Given the description of an element on the screen output the (x, y) to click on. 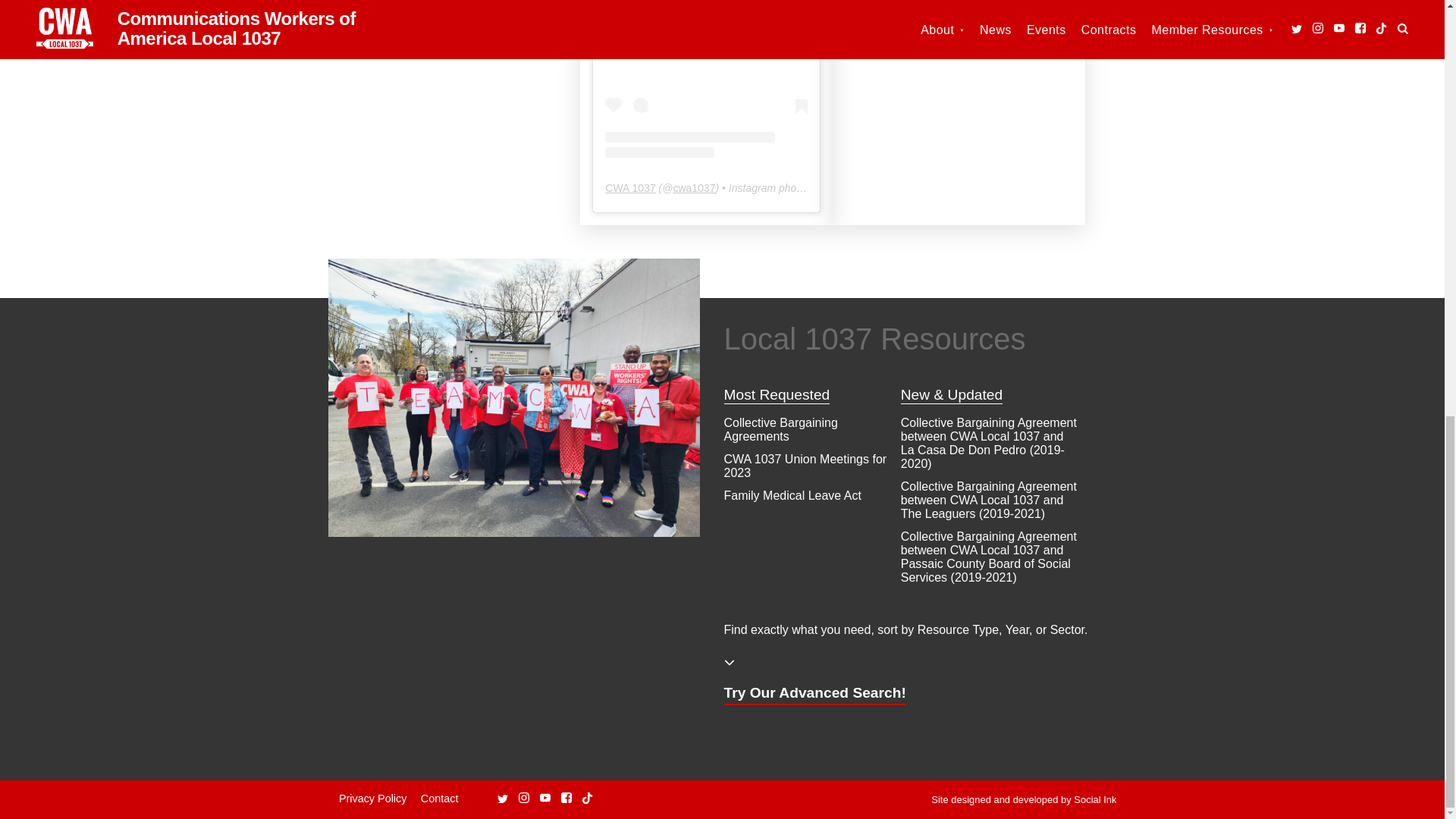
CWA 1037 (630, 187)
View this profile on Instagram (706, 79)
Facebook (566, 797)
Instagram (366, 25)
Twitter (502, 798)
Down Arrow (728, 662)
Facebook (408, 25)
Twitter (344, 26)
Instagram (523, 797)
cwa1037 (693, 187)
Collective Bargaining Agreements (780, 429)
